Given the description of an element on the screen output the (x, y) to click on. 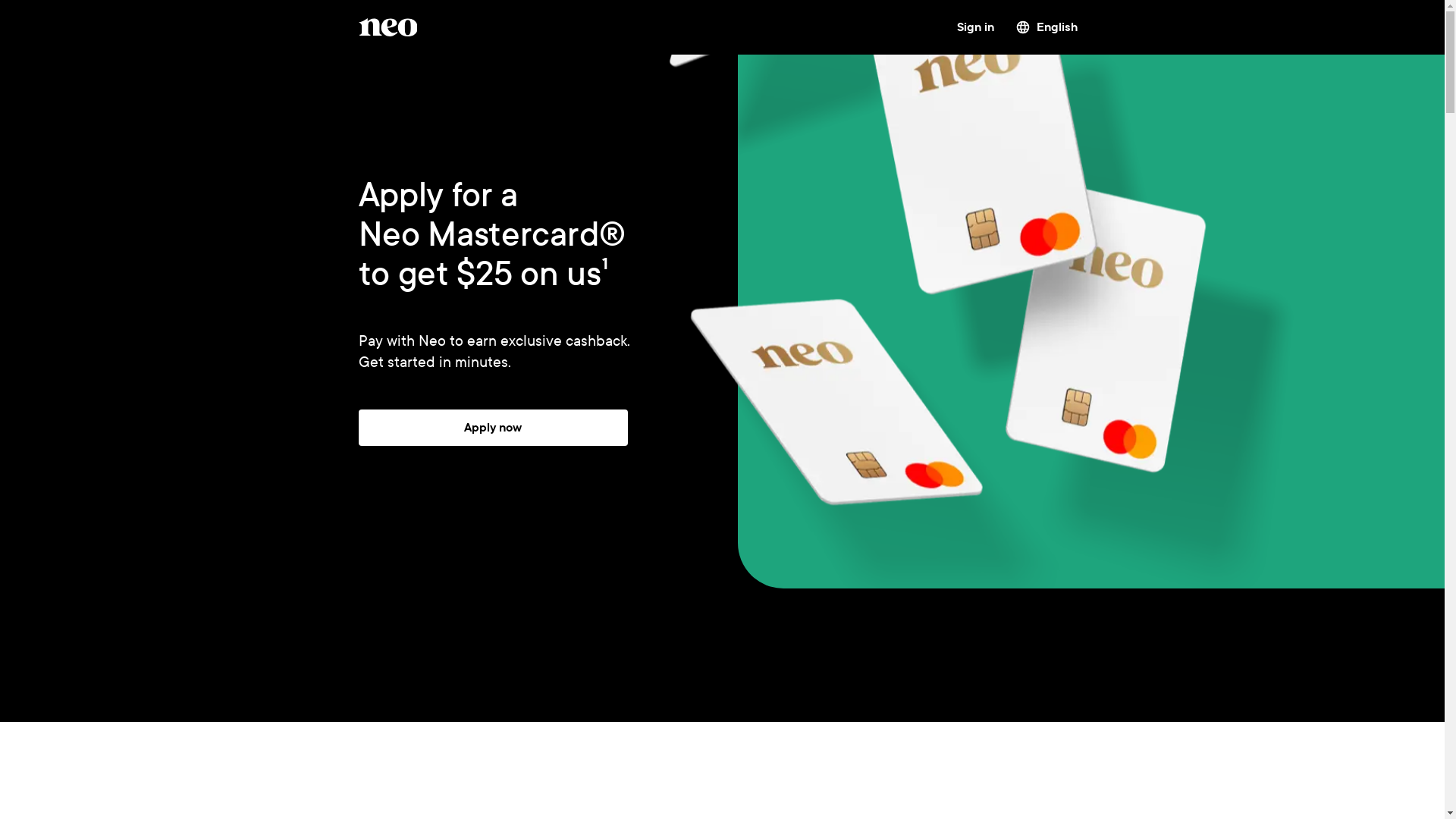
Apply now Element type: text (492, 427)
English Element type: text (1045, 26)
Sign in Element type: text (975, 27)
